Given the description of an element on the screen output the (x, y) to click on. 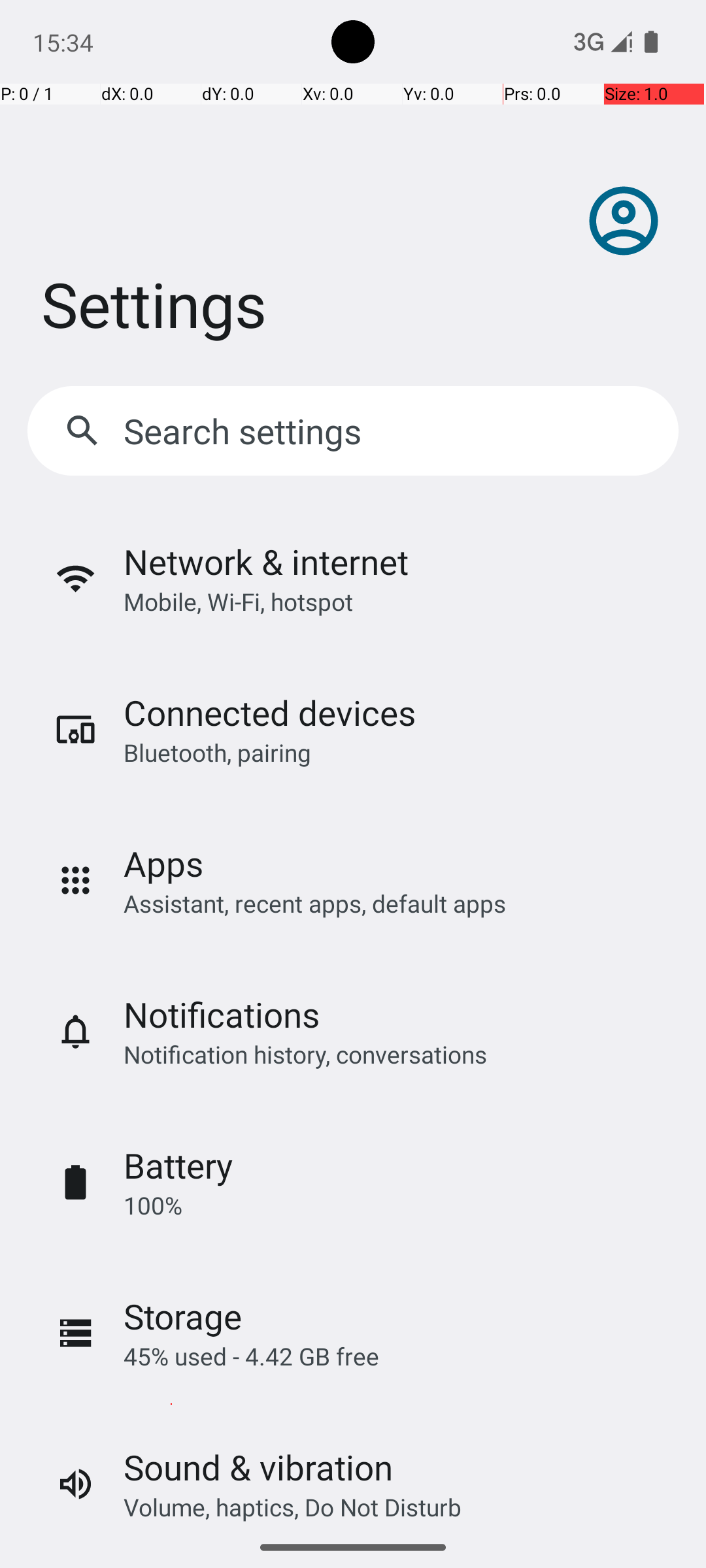
45% used - 4.42 GB free Element type: android.widget.TextView (251, 1355)
